Given the description of an element on the screen output the (x, y) to click on. 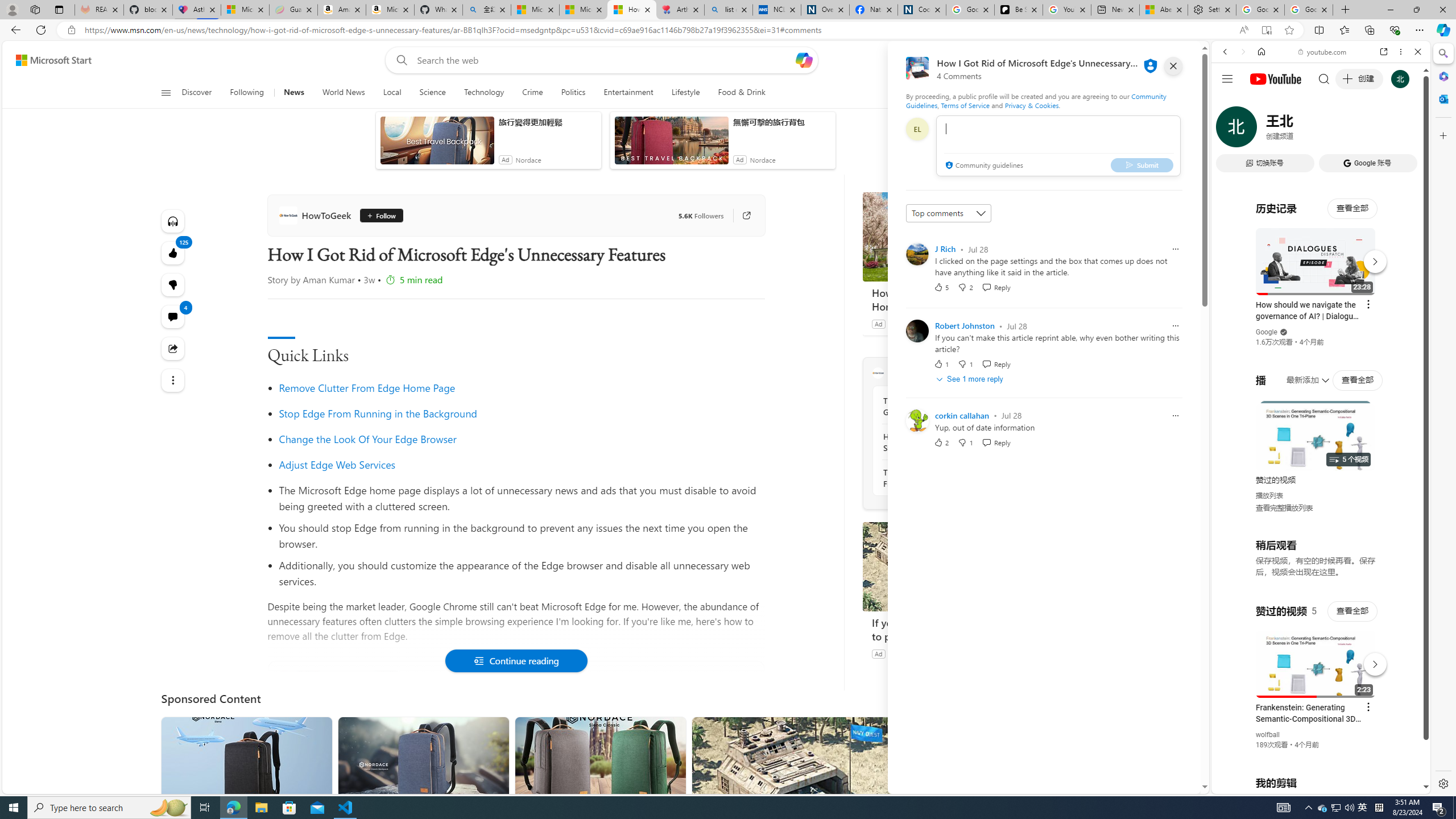
125 Like (172, 252)
SEARCH TOOLS (1350, 130)
How To Borrow From Your Home Without Touching Your Mortgage (947, 236)
Following (246, 92)
Class: b_serphb (1404, 130)
Microsoft 365 (1442, 76)
Asthma Inhalers: Names and Types (196, 9)
Search videos from youtube.com (1299, 373)
